Given the description of an element on the screen output the (x, y) to click on. 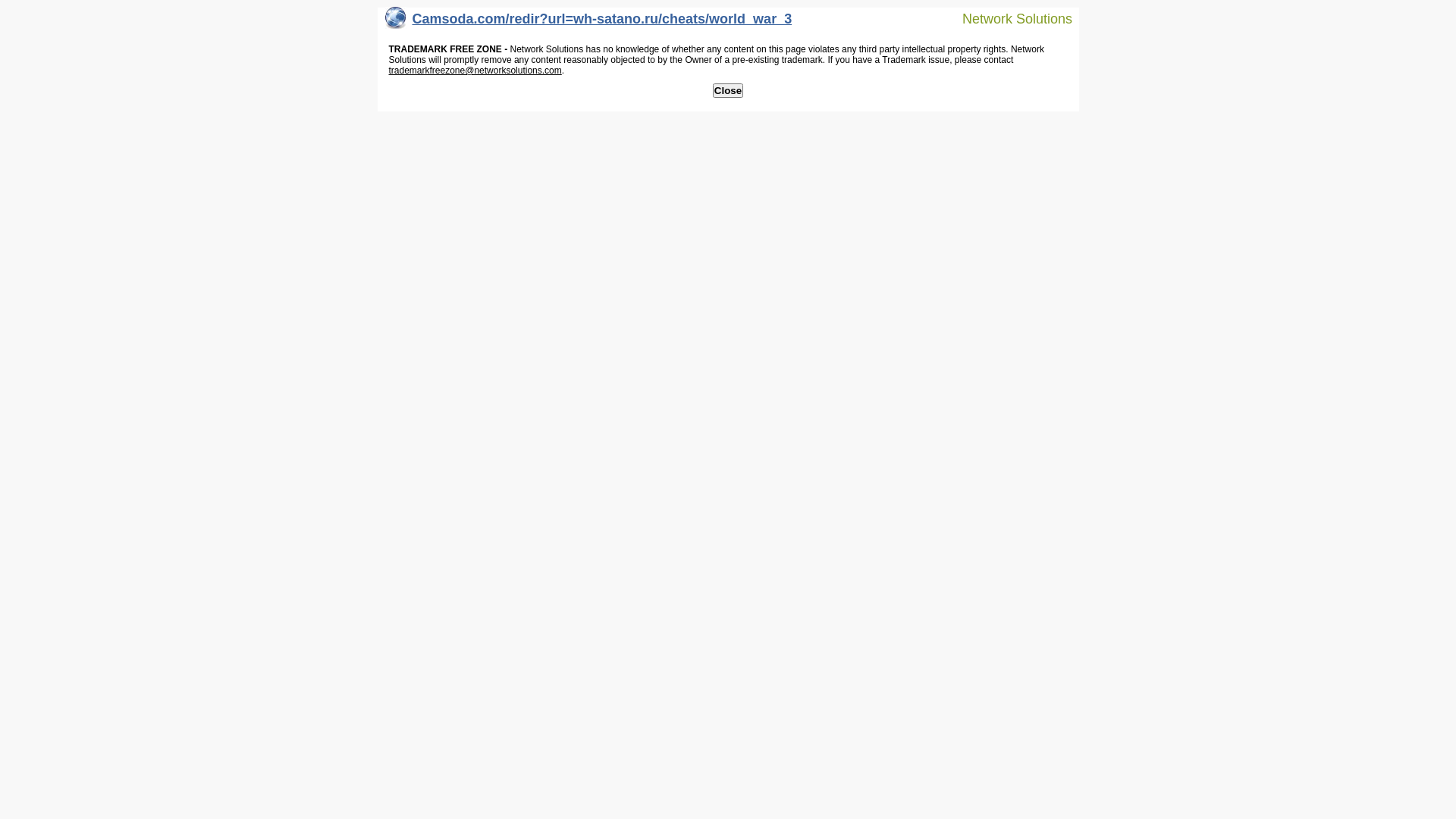
trademarkfreezone@networksolutions.com Element type: text (474, 70)
Close Element type: text (727, 90)
Camsoda.com/redir?url=wh-satano.ru/cheats/world_war_3 Element type: text (588, 21)
Network Solutions Element type: text (1007, 17)
